Given the description of an element on the screen output the (x, y) to click on. 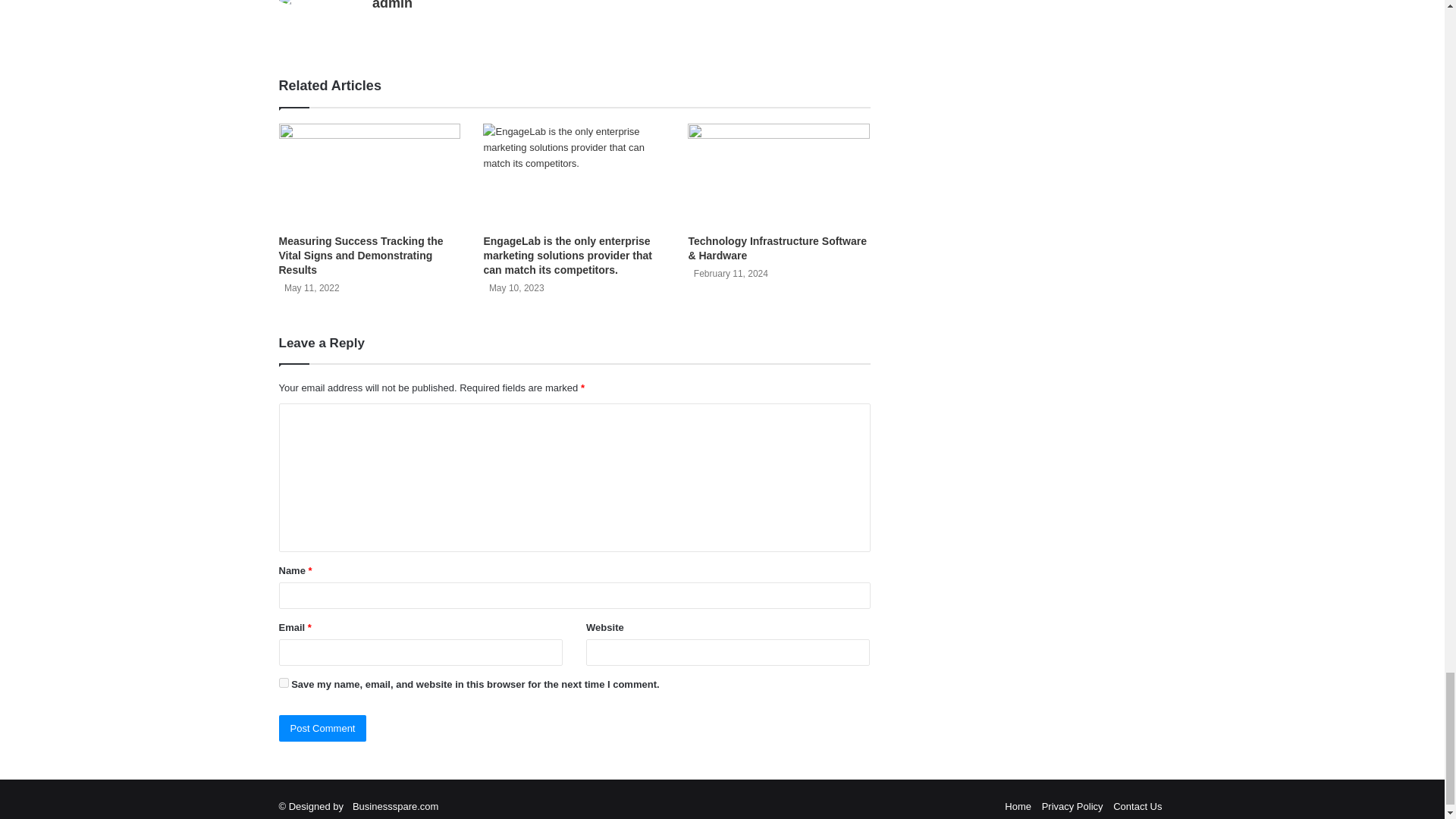
admin (392, 5)
yes (283, 682)
Post Comment (322, 728)
Website (381, 29)
